Given the description of an element on the screen output the (x, y) to click on. 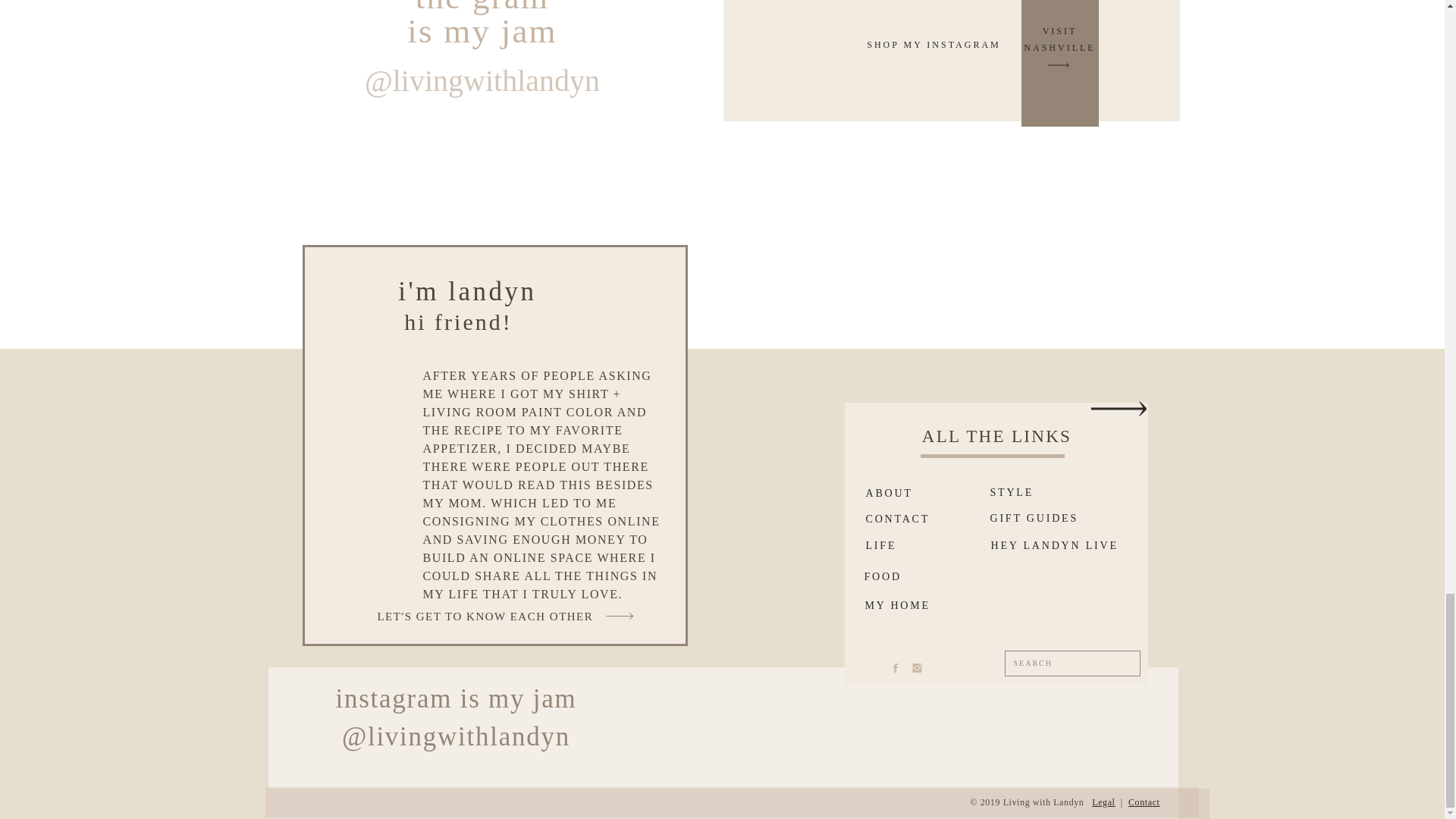
arrow (1059, 39)
arrow (1118, 408)
arrow (1058, 64)
arrow (1033, 44)
